Given the description of an element on the screen output the (x, y) to click on. 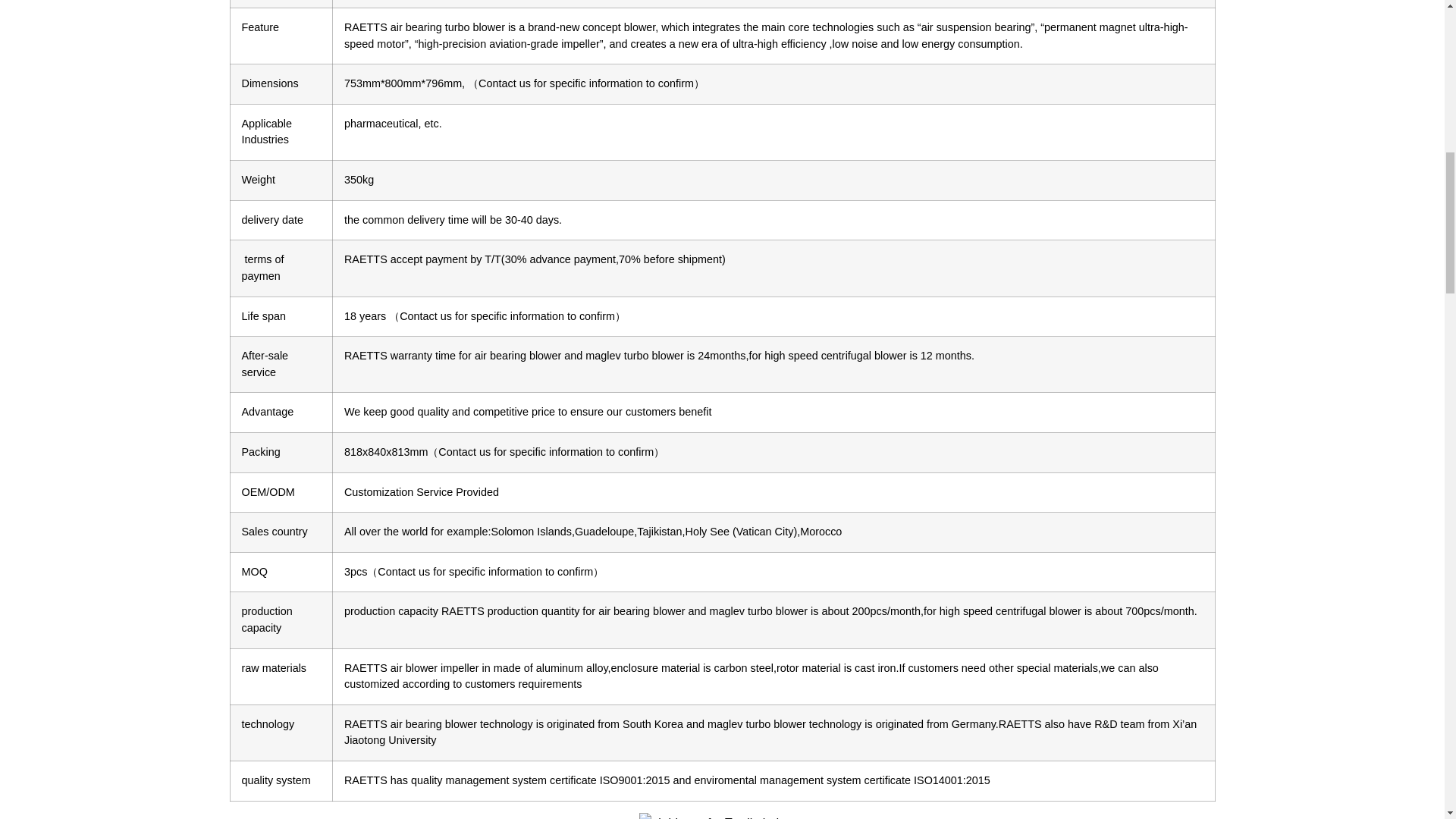
air blower for Textile industry (722, 816)
